Given the description of an element on the screen output the (x, y) to click on. 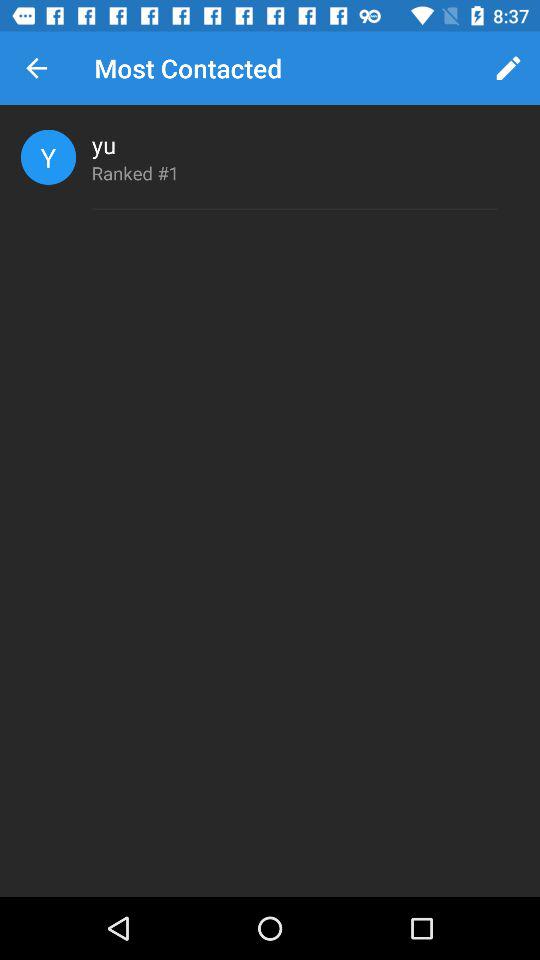
press the ranked #1 (135, 172)
